Given the description of an element on the screen output the (x, y) to click on. 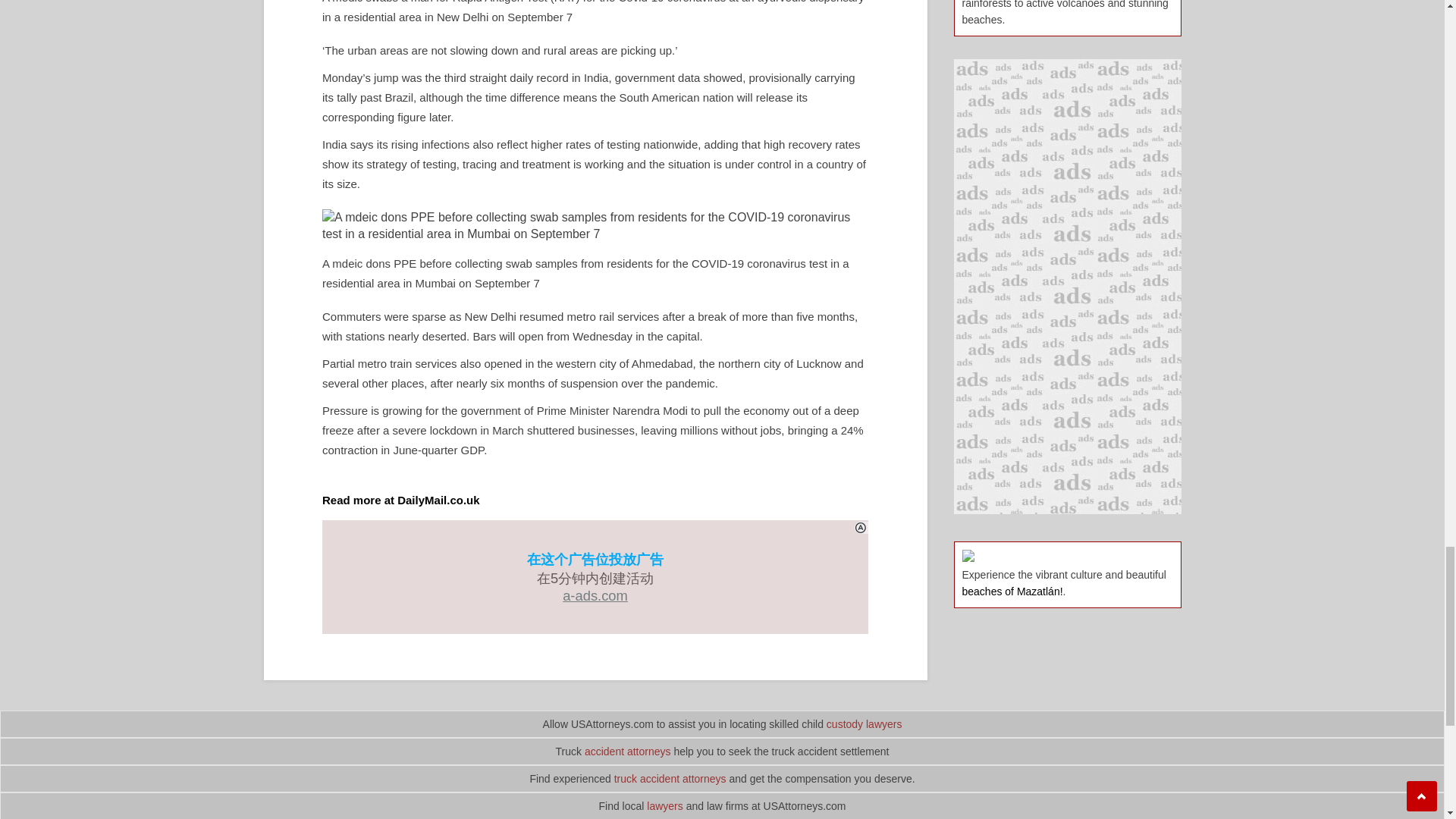
accident attorneys (628, 751)
Read more at DailyMail.co.uk (400, 499)
custody lawyers (864, 724)
truck accident attorneys (670, 778)
lawyers (664, 806)
